Given the description of an element on the screen output the (x, y) to click on. 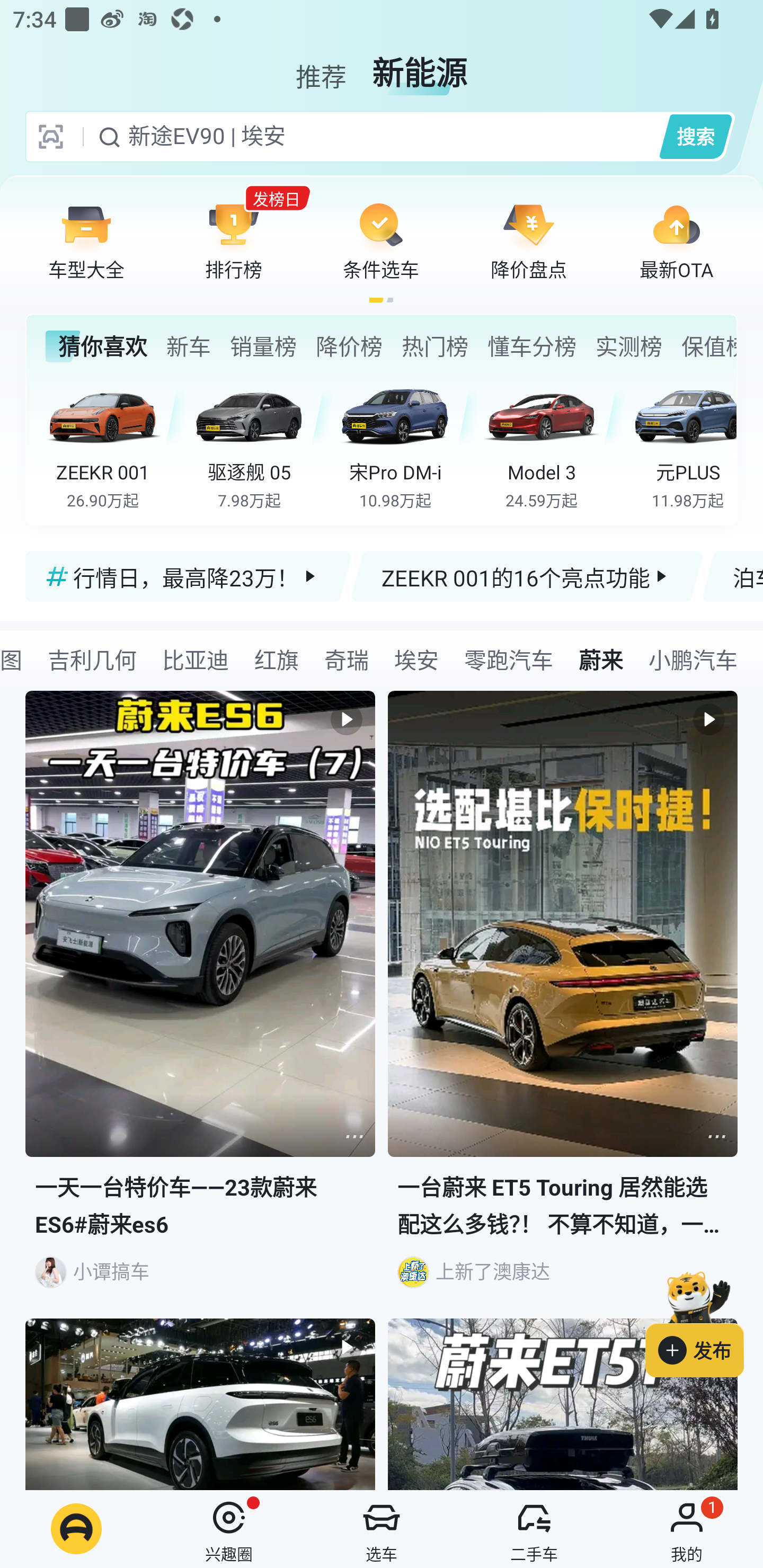
推荐 (321, 65)
新能源 (419, 65)
搜索 (695, 136)
车型大全 (86, 240)
发榜日 排行榜 (233, 240)
条件选车 (380, 240)
降价盘点 (528, 240)
最新OTA (676, 240)
猜你喜欢 (96, 346)
新车 (188, 346)
销量榜 (262, 346)
降价榜 (348, 346)
热门榜 (434, 346)
懂车分榜 (531, 346)
实测榜 (628, 346)
保值榜 (708, 346)
ZEEKR 001 26.90万起 (115, 442)
驱逐舰 05 7.98万起 (261, 442)
宋Pro DM-i 10.98万起 (407, 442)
Model 3 24.59万起 (554, 442)
元PLUS 11.98万起 (683, 442)
行情日，最高降23万！ (188, 576)
ZEEKR 001的16个亮点功能 (526, 576)
吉利几何 (92, 659)
比亚迪 (195, 659)
红旗 (276, 659)
奇瑞 (346, 659)
埃安 (416, 659)
零跑汽车 (508, 659)
蔚来 (600, 659)
小鹏汽车 (692, 659)
  一天一台特价车——23款蔚来ES6#蔚来es6 小谭搞车 (200, 1004)
 (354, 1136)
 (716, 1136)
发布 (704, 1320)
  (200, 1403)
 (562, 1403)
 兴趣圈 (228, 1528)
 选车 (381, 1528)
 二手车 (533, 1528)
 我的 (686, 1528)
